Given the description of an element on the screen output the (x, y) to click on. 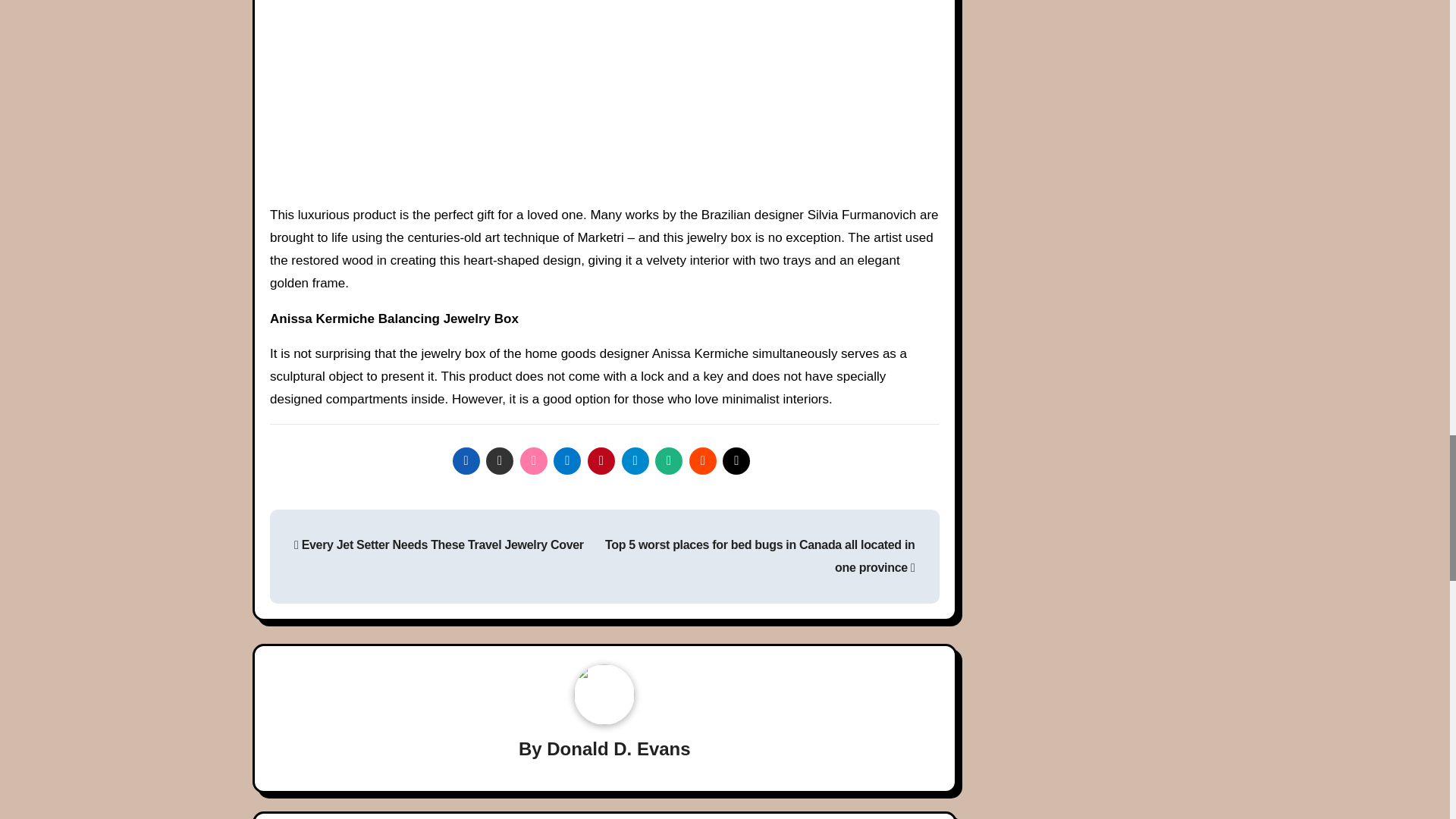
Donald D. Evans (618, 748)
Every Jet Setter Needs These Travel Jewelry Cover (438, 544)
